Given the description of an element on the screen output the (x, y) to click on. 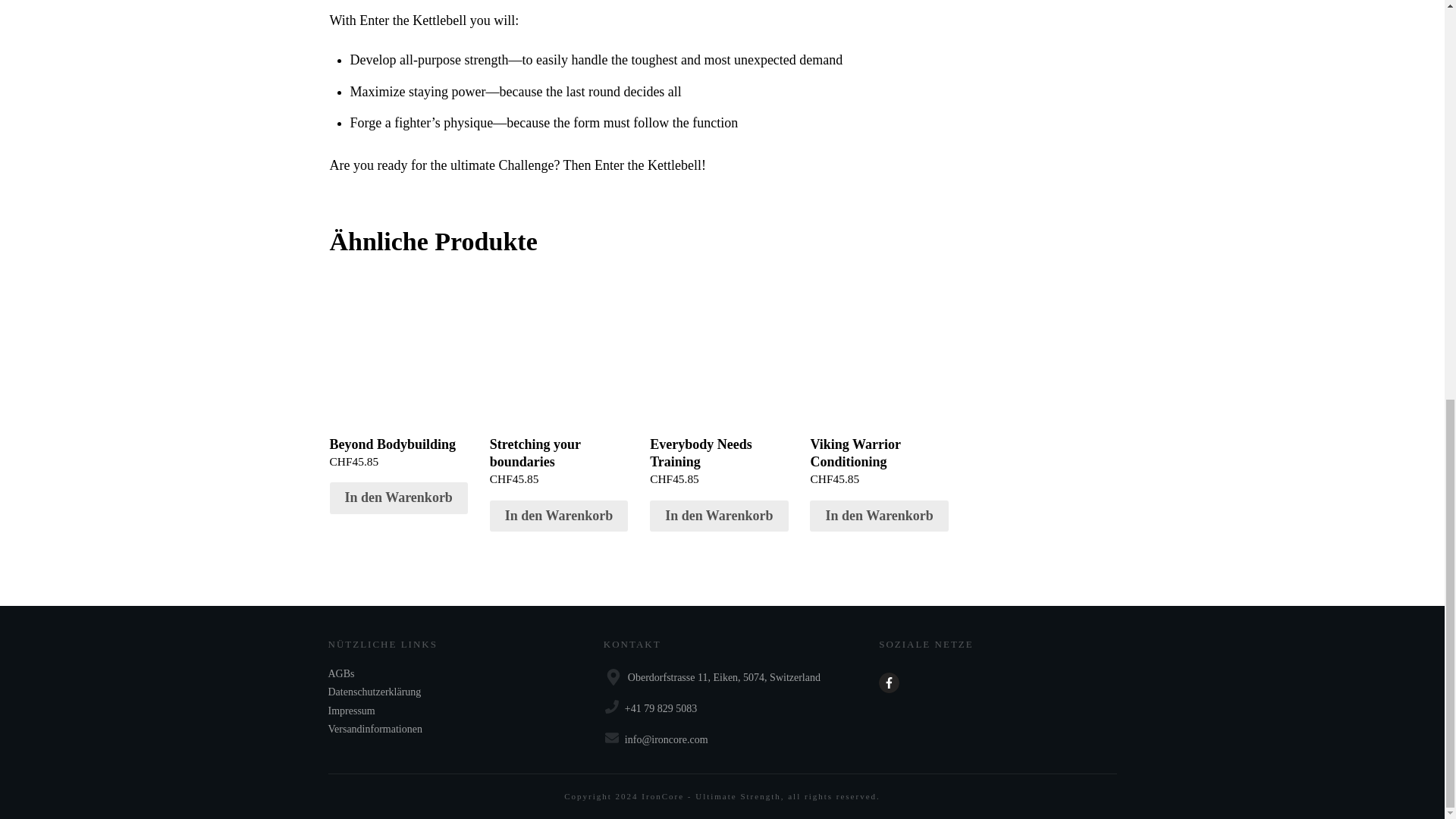
In den Warenkorb (558, 516)
In den Warenkorb (718, 516)
AGBs (340, 673)
In den Warenkorb (878, 516)
In den Warenkorb (398, 498)
Impressum (350, 710)
